Given the description of an element on the screen output the (x, y) to click on. 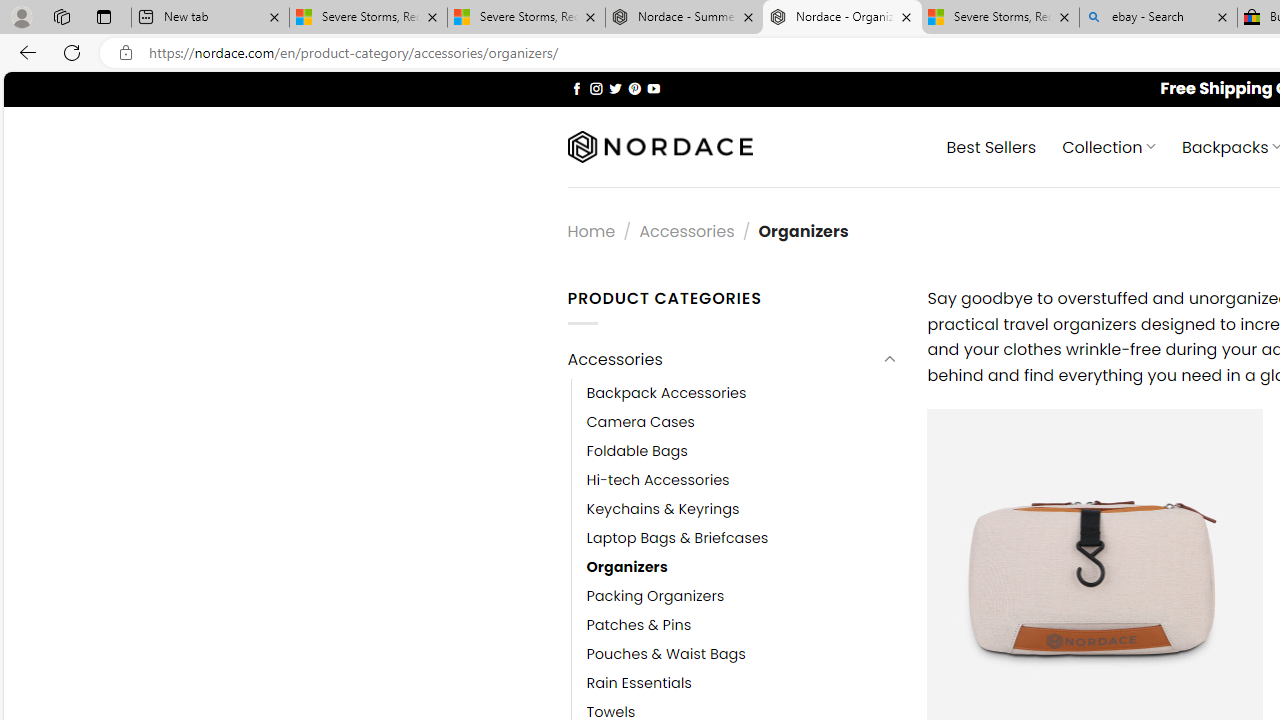
Pouches & Waist Bags (666, 655)
Nordace (659, 147)
Refresh (72, 52)
Nordace - Summer Adventures 2024 (683, 17)
Hi-tech Accessories (742, 480)
Nordace - Organizers (842, 17)
ebay - Search (1158, 17)
Keychains & Keyrings (662, 508)
Personal Profile (21, 16)
Backpack Accessories (666, 393)
Packing Organizers (742, 596)
Back (24, 52)
Tab actions menu (104, 16)
Backpack Accessories (742, 393)
